Given the description of an element on the screen output the (x, y) to click on. 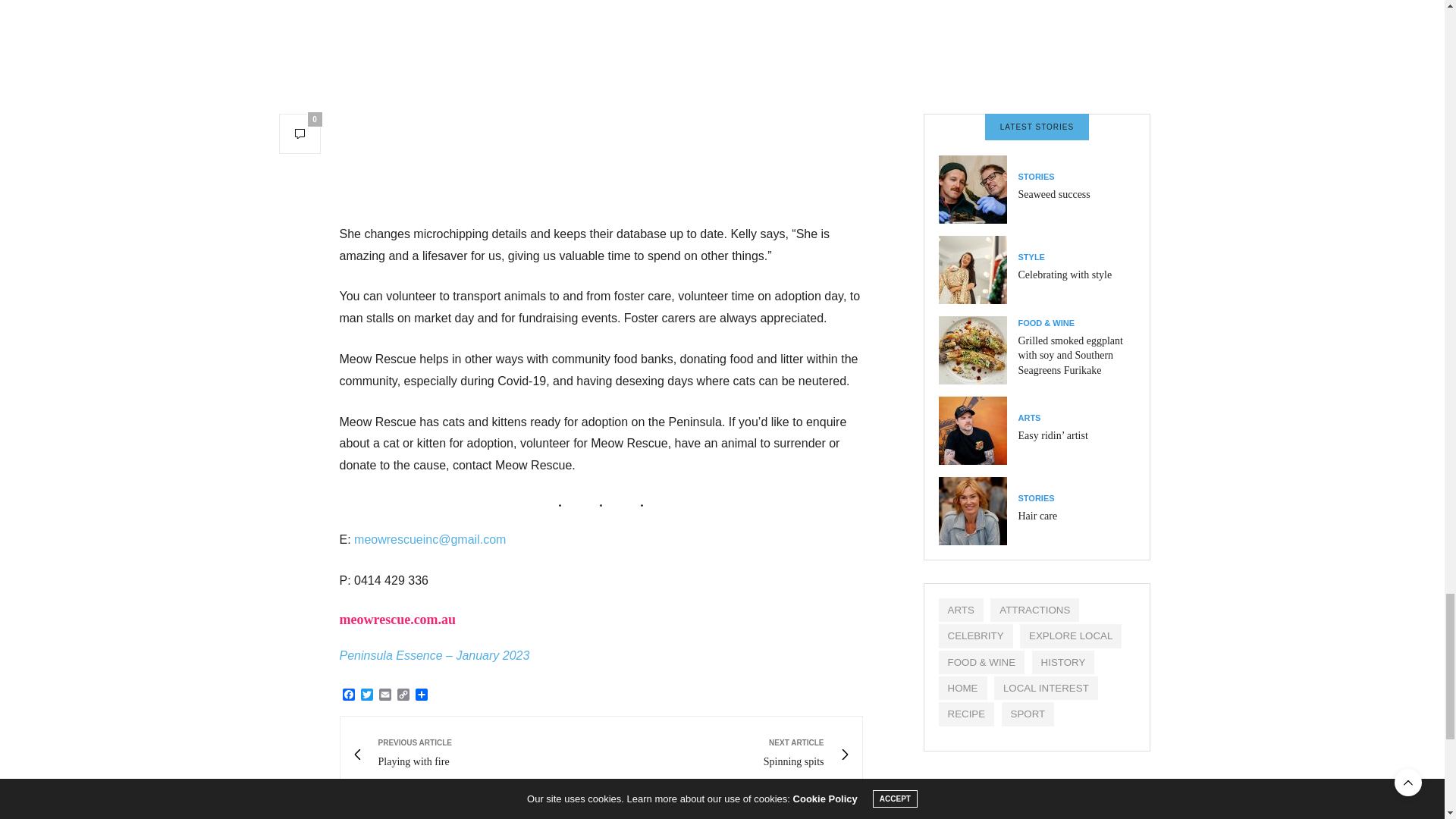
Copy Link (403, 695)
Twitter (366, 695)
Twitter (366, 695)
Copy Link (403, 695)
Facebook (348, 695)
Email (726, 754)
meowrescue.com.au  (384, 695)
Facebook (399, 619)
